Given the description of an element on the screen output the (x, y) to click on. 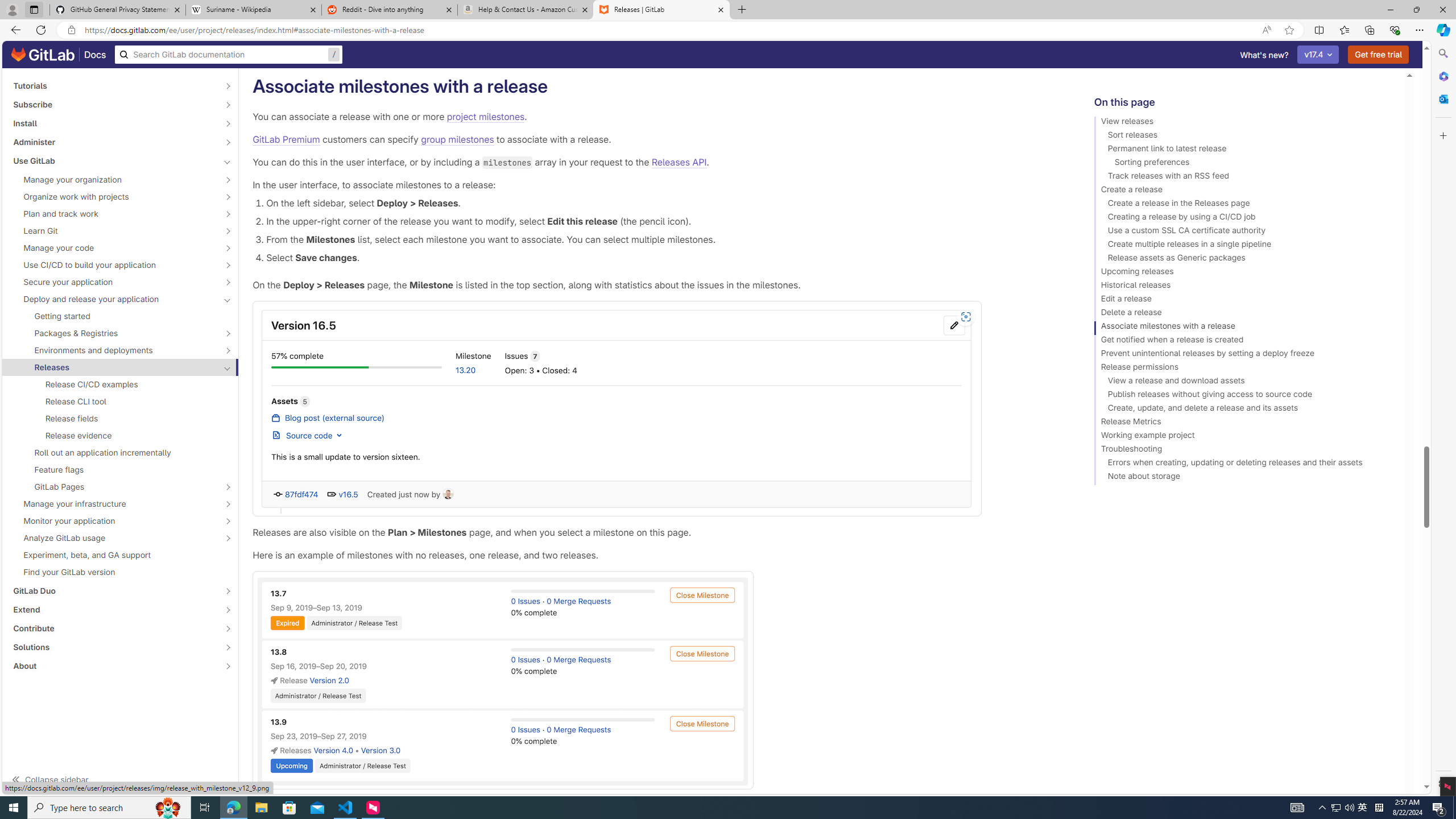
Working example project (1244, 436)
Creating a release by using a CI/CD job (1244, 218)
Release fields (120, 418)
Get notified when a release is created (1244, 341)
Environments and deployments (113, 349)
Secure your application (113, 281)
Note about storage (1244, 477)
Publish releases without giving access to source code (1244, 395)
GitLab documentation home Docs (58, 53)
Subscribe (113, 104)
Release CLI tool (120, 401)
View releases (1244, 123)
Releases | GitLab (660, 9)
Manage your code (113, 247)
Collapse sidebar (120, 779)
